Given the description of an element on the screen output the (x, y) to click on. 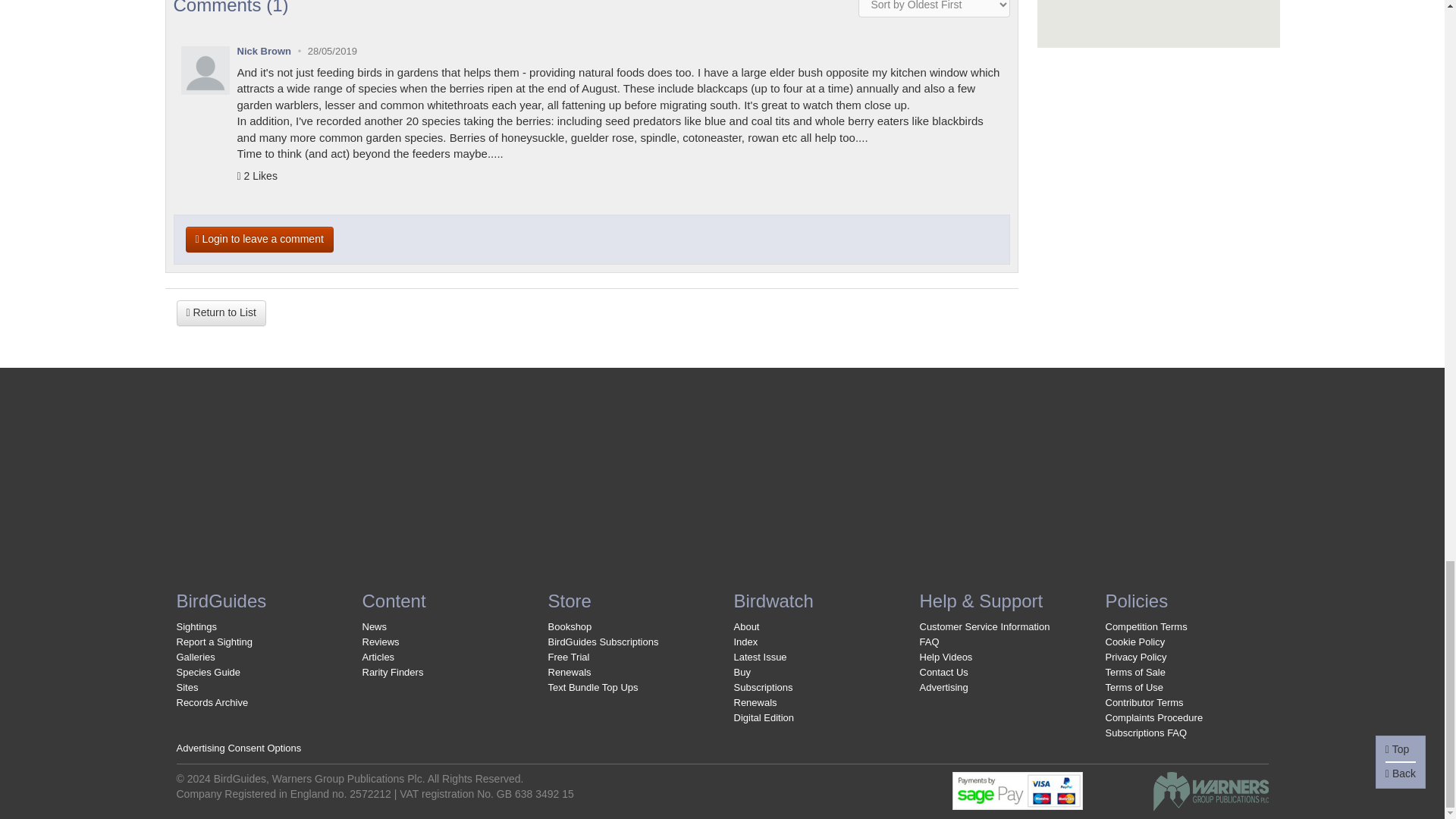
No Profile Picture (204, 70)
View your Advertising Consent options for this website (238, 747)
Payment (1017, 789)
Brought to you by Warners Group Publications (1210, 790)
